Given the description of an element on the screen output the (x, y) to click on. 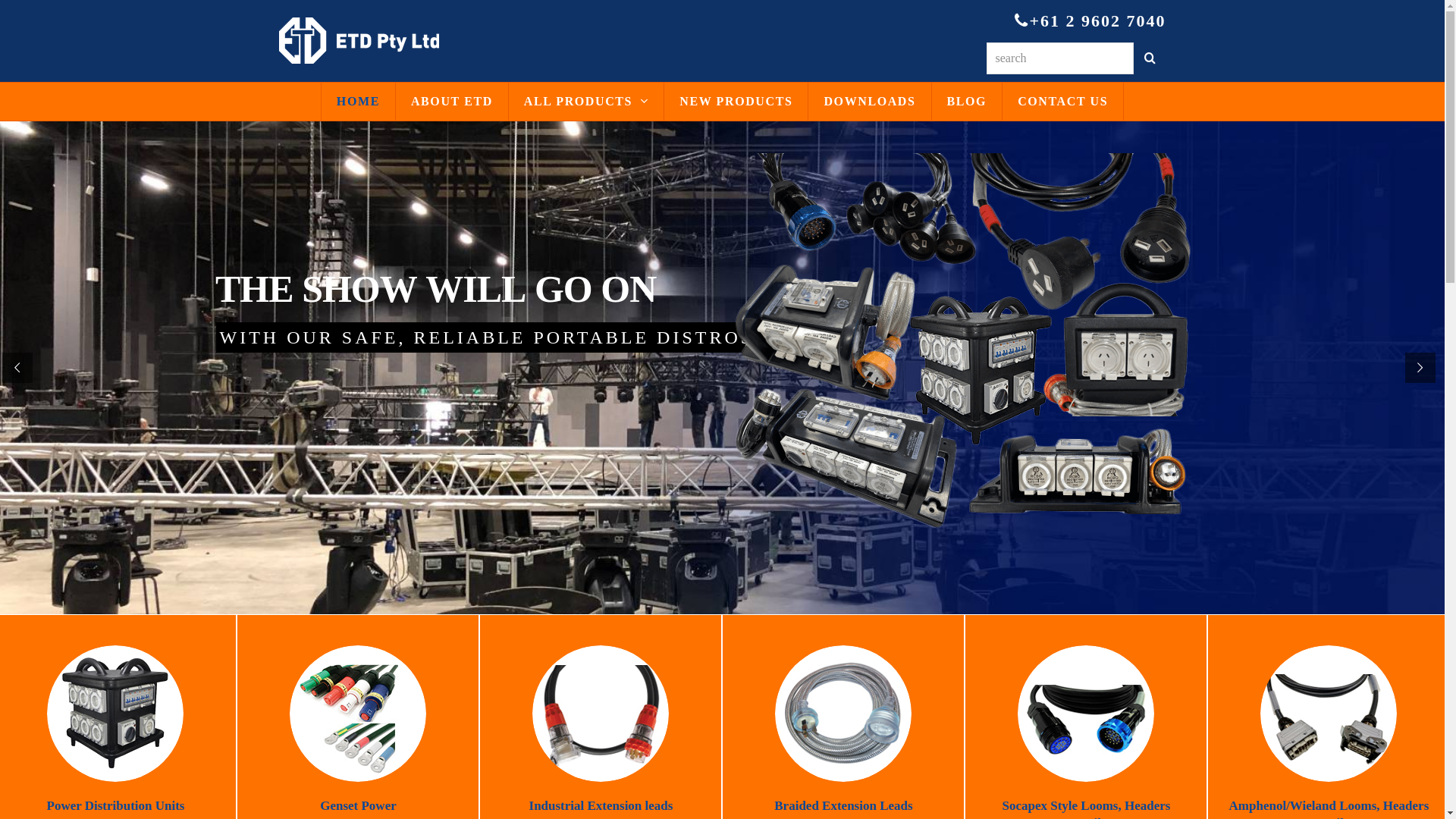
Power Distribution Units Element type: text (116, 805)
ABOUT ETD Element type: text (451, 101)
ALL PRODUCTS Element type: text (585, 101)
Braided Extension Leads Element type: text (843, 805)
Search Element type: text (1149, 58)
BLOG Element type: text (966, 101)
cat3 Element type: hover (600, 713)
DOWNLOADS Element type: text (869, 101)
Genset Power Element type: text (358, 805)
NEW PRODUCTS Element type: text (735, 101)
HOME Element type: text (358, 101)
CONTACT US Element type: text (1062, 101)
Industrial Extension leads Element type: text (601, 805)
